Given the description of an element on the screen output the (x, y) to click on. 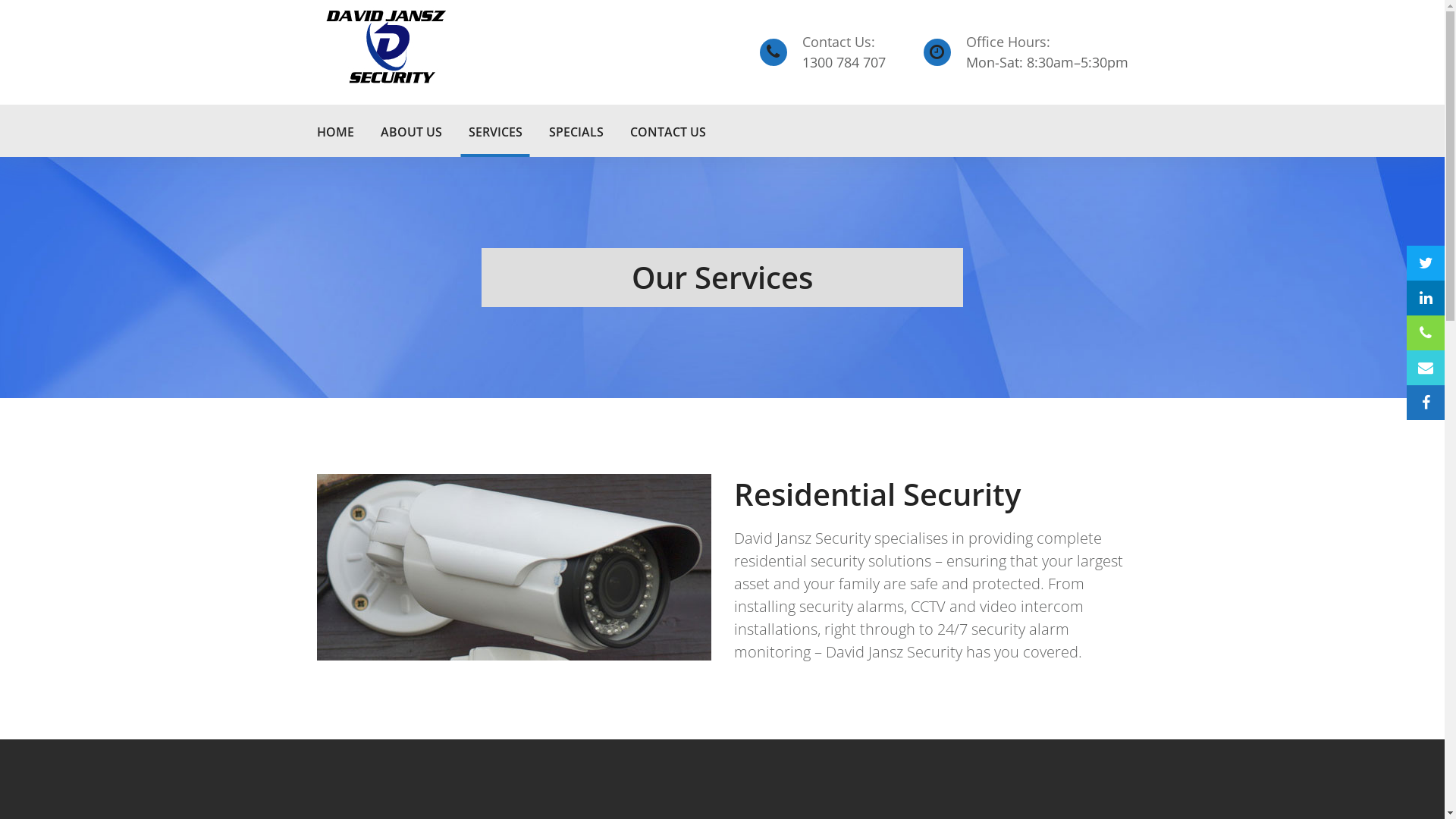
ABOUT US Element type: text (411, 130)
Skip to content Element type: text (0, 0)
CONTACT US Element type: text (666, 130)
1300 784 707 Element type: text (843, 62)
SPECIALS Element type: text (576, 130)
HOME Element type: text (335, 130)
SERVICES Element type: text (495, 130)
